Given the description of an element on the screen output the (x, y) to click on. 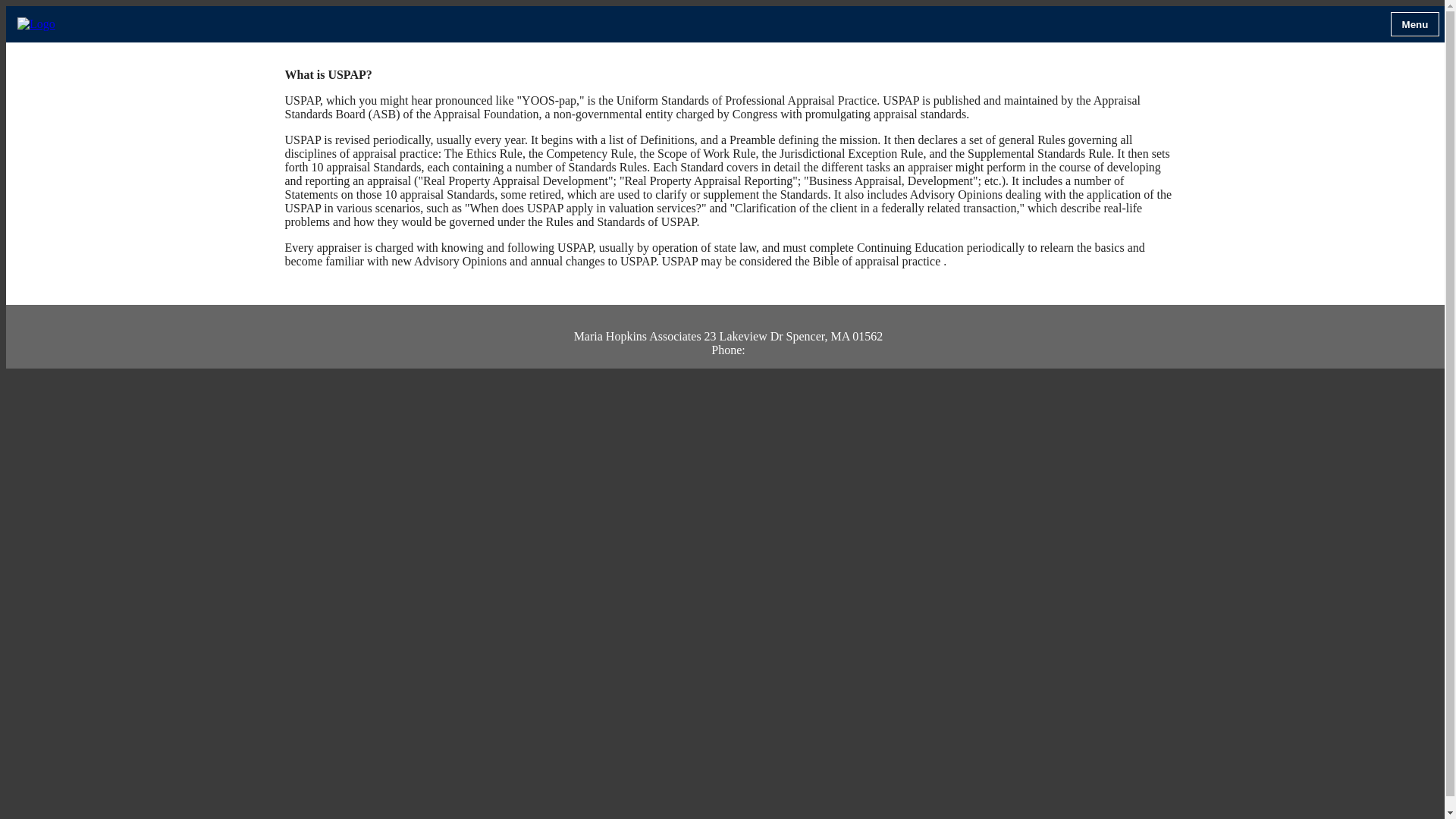
Menu (1414, 24)
